Given the description of an element on the screen output the (x, y) to click on. 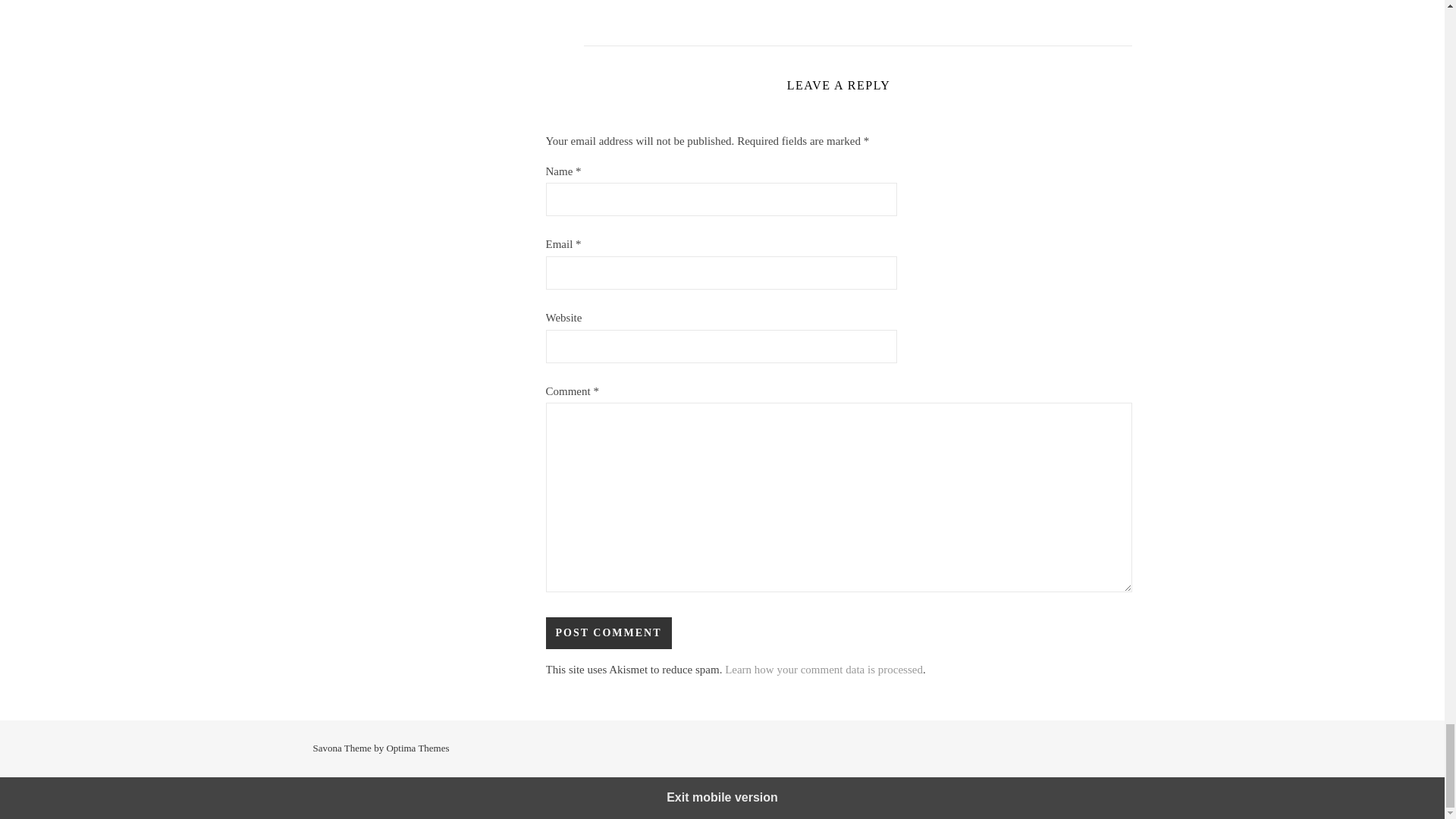
Post Comment (608, 633)
